Given the description of an element on the screen output the (x, y) to click on. 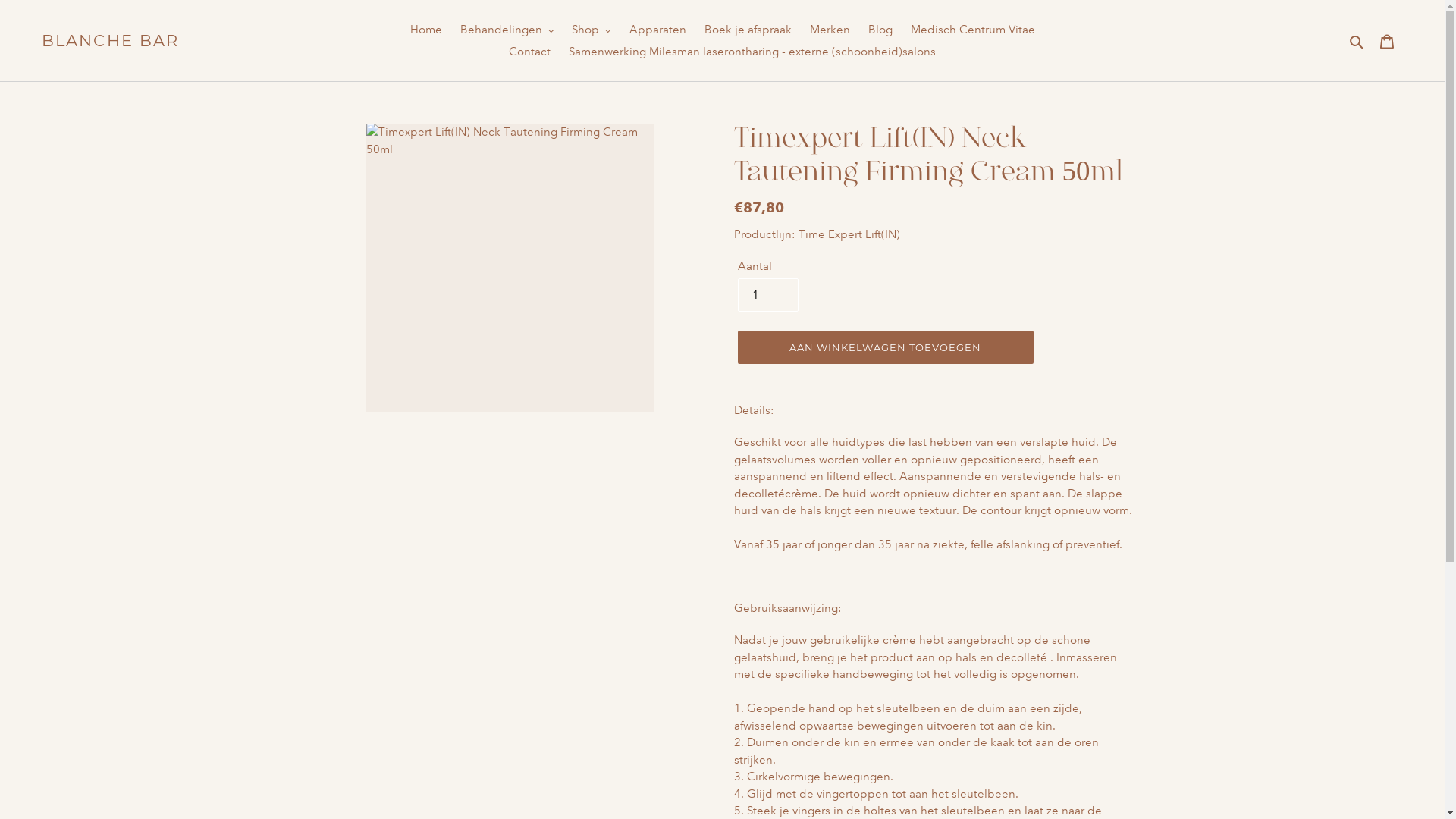
Shop Element type: text (591, 29)
Time Expert Lift(IN) Element type: text (848, 234)
Behandelingen Element type: text (506, 29)
Blog Element type: text (879, 29)
Merken Element type: text (829, 29)
Winkelwagen Element type: text (1386, 40)
Medisch Centrum Vitae Element type: text (971, 29)
BLANCHE BAR Element type: text (109, 40)
Zoeken Element type: text (1357, 40)
AAN WINKELWAGEN TOEVOEGEN Element type: text (884, 347)
Home Element type: text (424, 29)
Boek je afspraak Element type: text (747, 29)
Contact Element type: text (529, 51)
Apparaten Element type: text (657, 29)
